Given the description of an element on the screen output the (x, y) to click on. 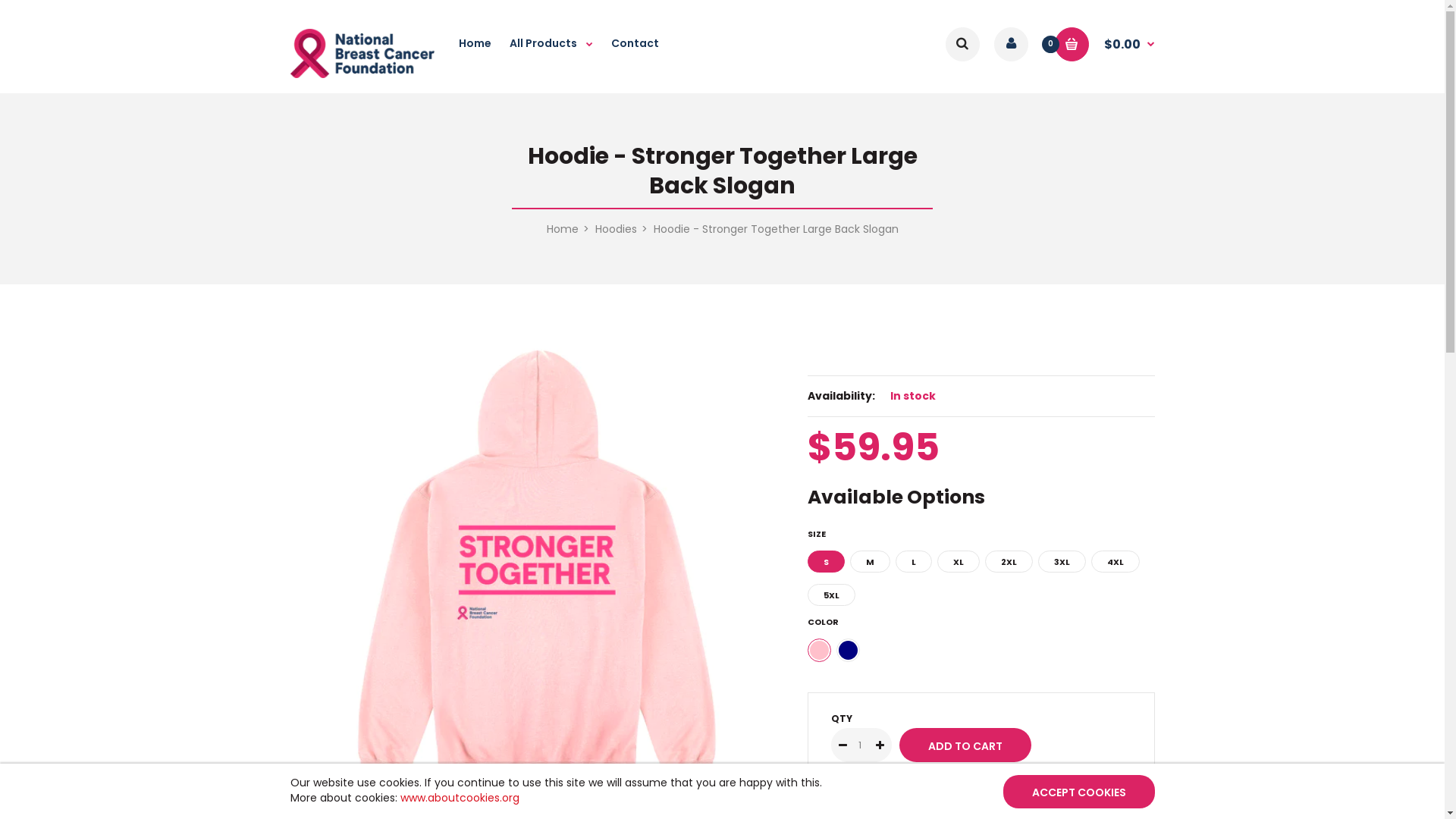
All Products Element type: text (551, 50)
www.aboutcookies.org Element type: text (459, 797)
Hoodies Element type: text (615, 228)
Add to cart Element type: text (965, 745)
Navy Element type: hover (847, 650)
0
$0.00 Element type: text (1104, 44)
Pink Element type: hover (819, 650)
Home Element type: text (561, 228)
Home Element type: text (474, 50)
Contact Element type: text (634, 50)
National Breast Cancer Foundation Element type: hover (361, 53)
National Breast Cancer Foundation Element type: hover (361, 73)
